Given the description of an element on the screen output the (x, y) to click on. 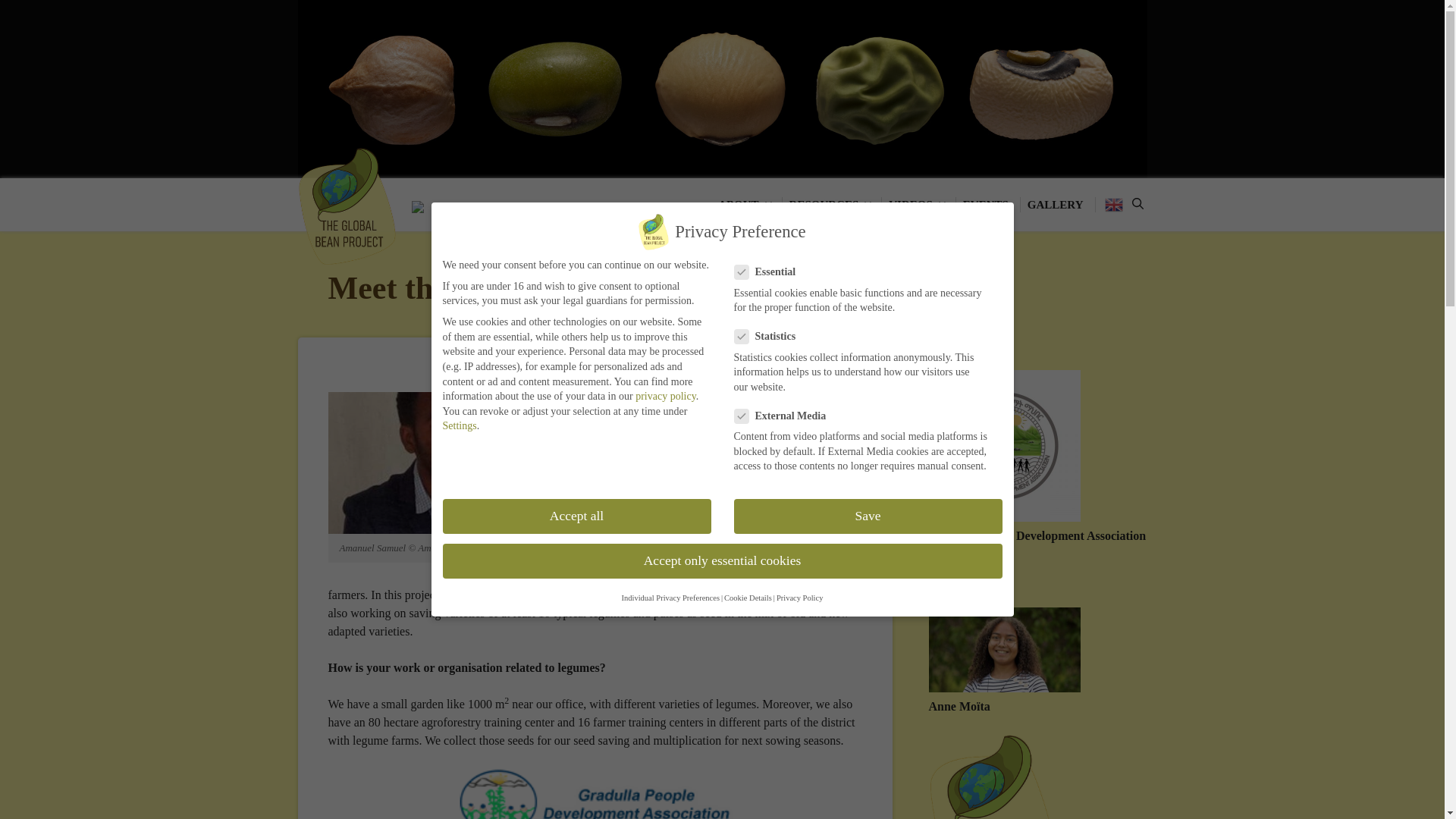
EVENTS (987, 204)
ABOUT (745, 204)
VIDEOS (917, 204)
RESOURCES (831, 204)
GALLERY (1057, 204)
